Given the description of an element on the screen output the (x, y) to click on. 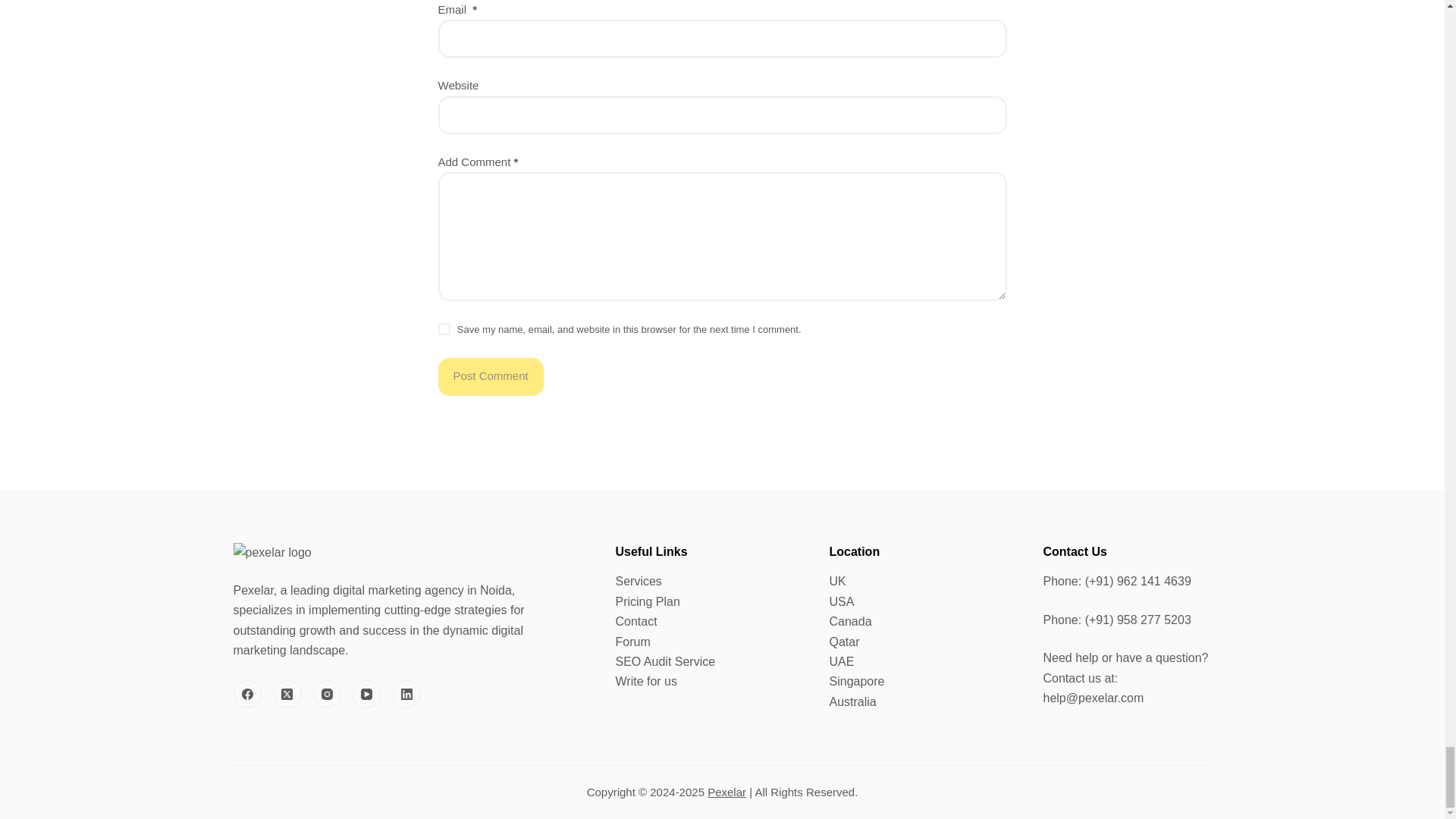
yes (443, 328)
